Given the description of an element on the screen output the (x, y) to click on. 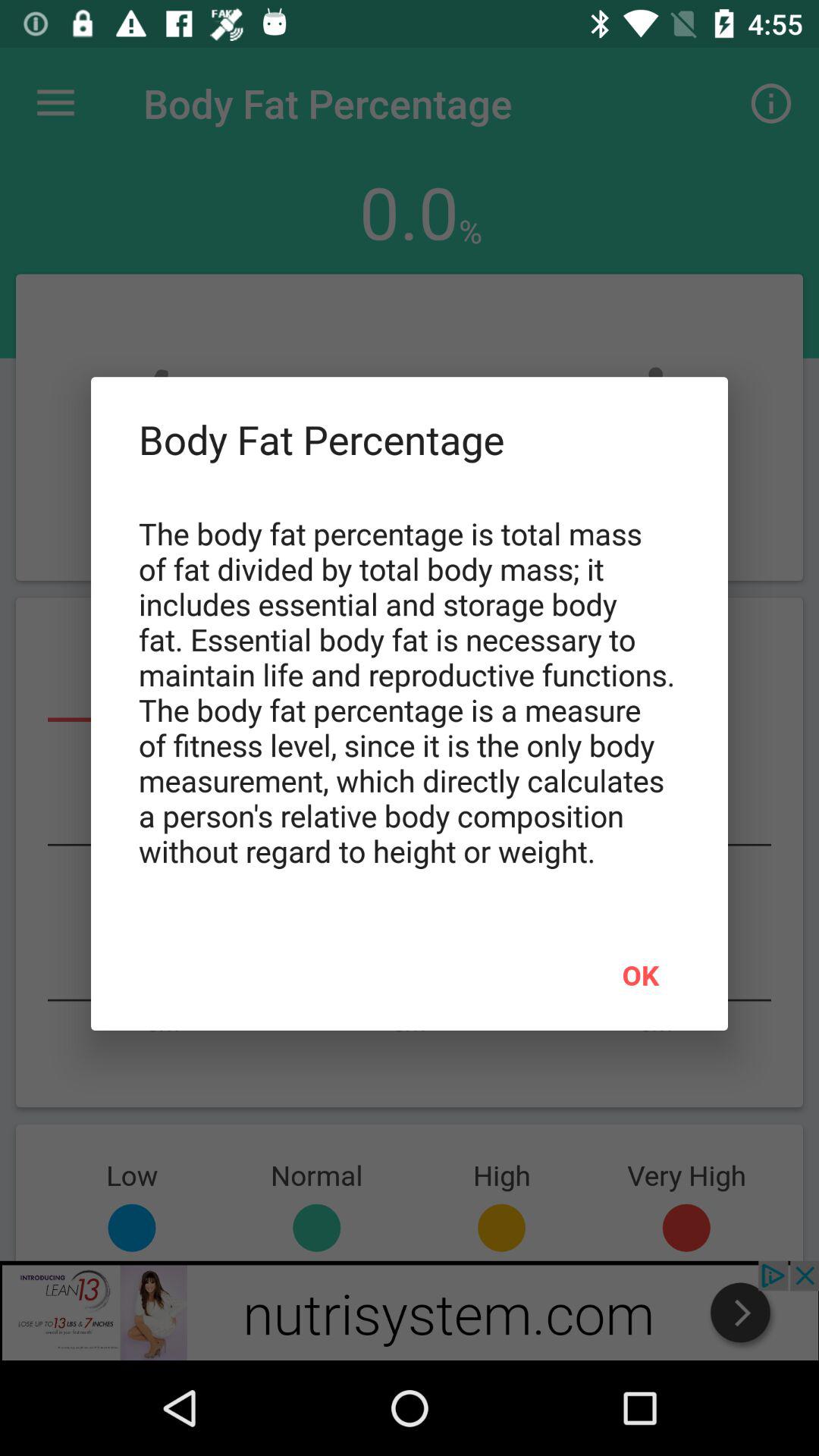
swipe until ok item (640, 974)
